Given the description of an element on the screen output the (x, y) to click on. 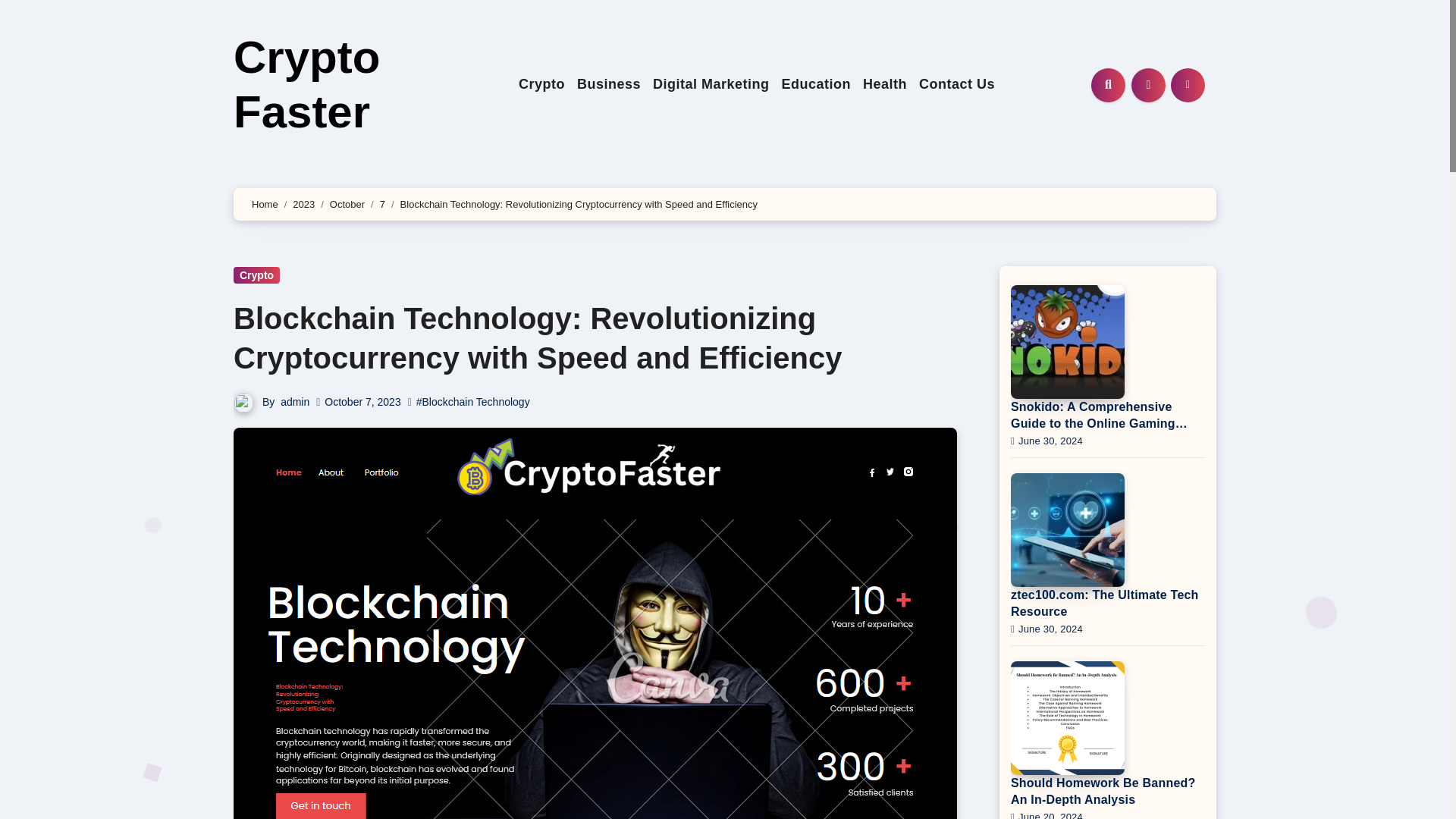
Crypto (541, 84)
Health (884, 84)
Contact Us (956, 84)
Business (608, 84)
Health (884, 84)
admin (294, 401)
Contact Us (956, 84)
Education (815, 84)
Digital Marketing (711, 84)
